Given the description of an element on the screen output the (x, y) to click on. 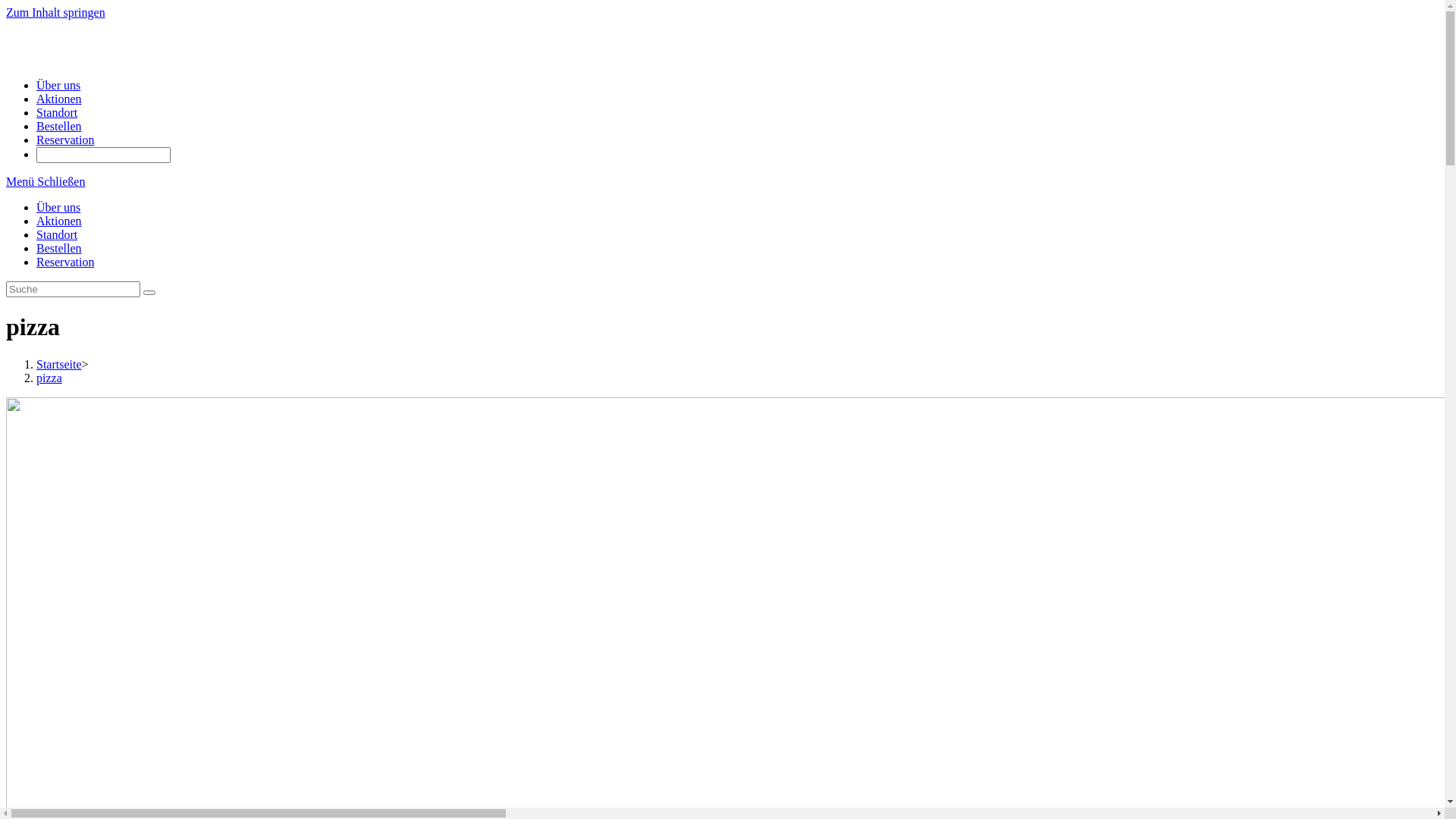
Aktionen Element type: text (58, 98)
Reservation Element type: text (65, 139)
Bestellen Element type: text (58, 125)
Reservation Element type: text (65, 261)
Standort Element type: text (56, 112)
Zum Inhalt springen Element type: text (55, 12)
Aktionen Element type: text (58, 220)
Startseite Element type: text (58, 363)
Standort Element type: text (56, 234)
pizza Element type: text (49, 377)
Bestellen Element type: text (58, 247)
